Given the description of an element on the screen output the (x, y) to click on. 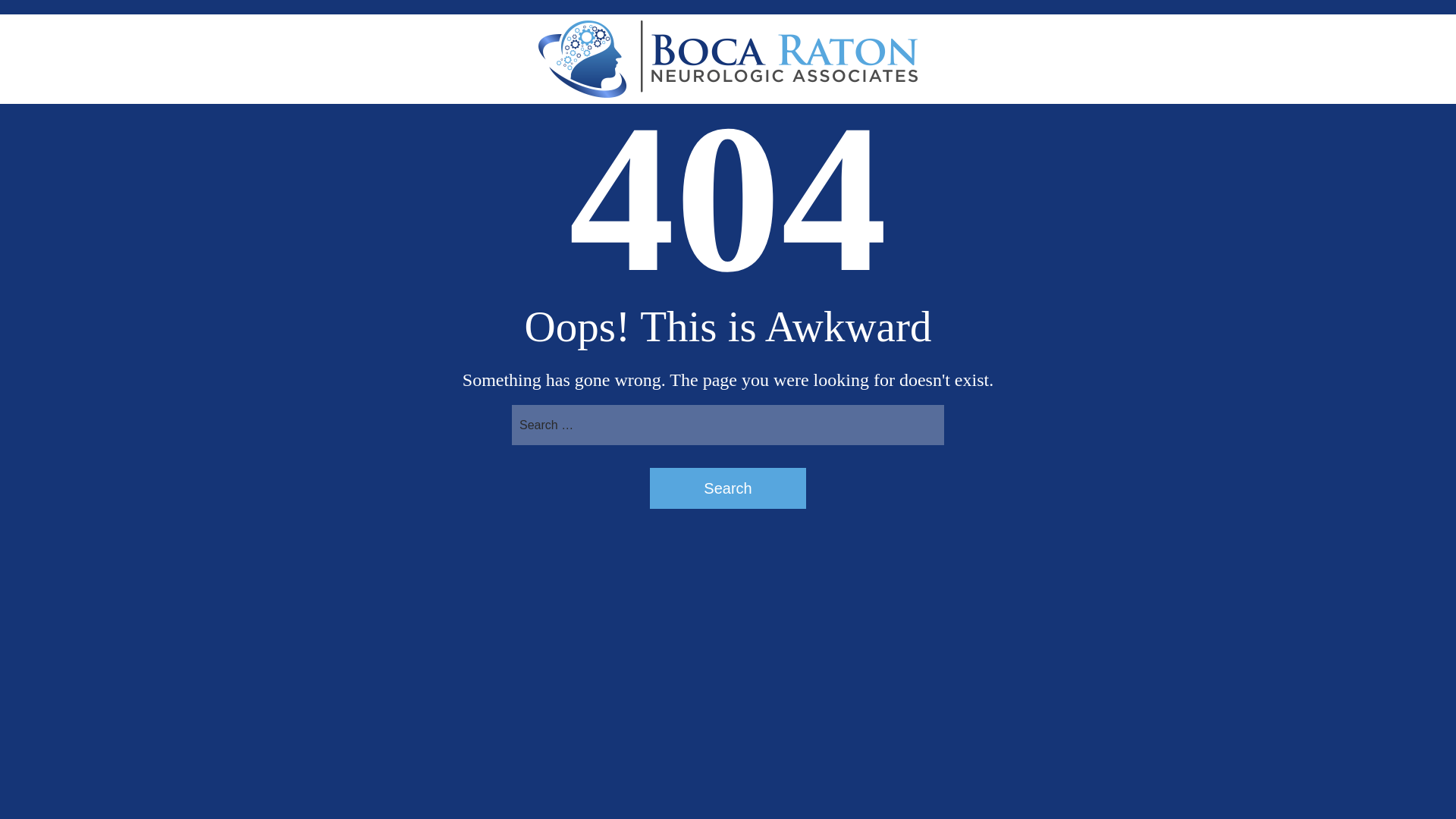
Search (727, 487)
Search (727, 487)
Search (727, 487)
